Given the description of an element on the screen output the (x, y) to click on. 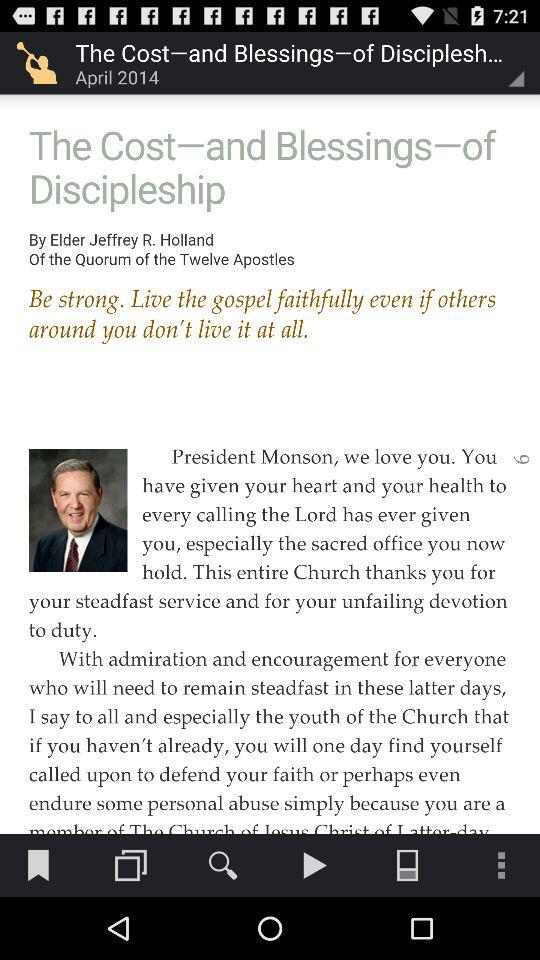
for addvertisement (269, 416)
